Given the description of an element on the screen output the (x, y) to click on. 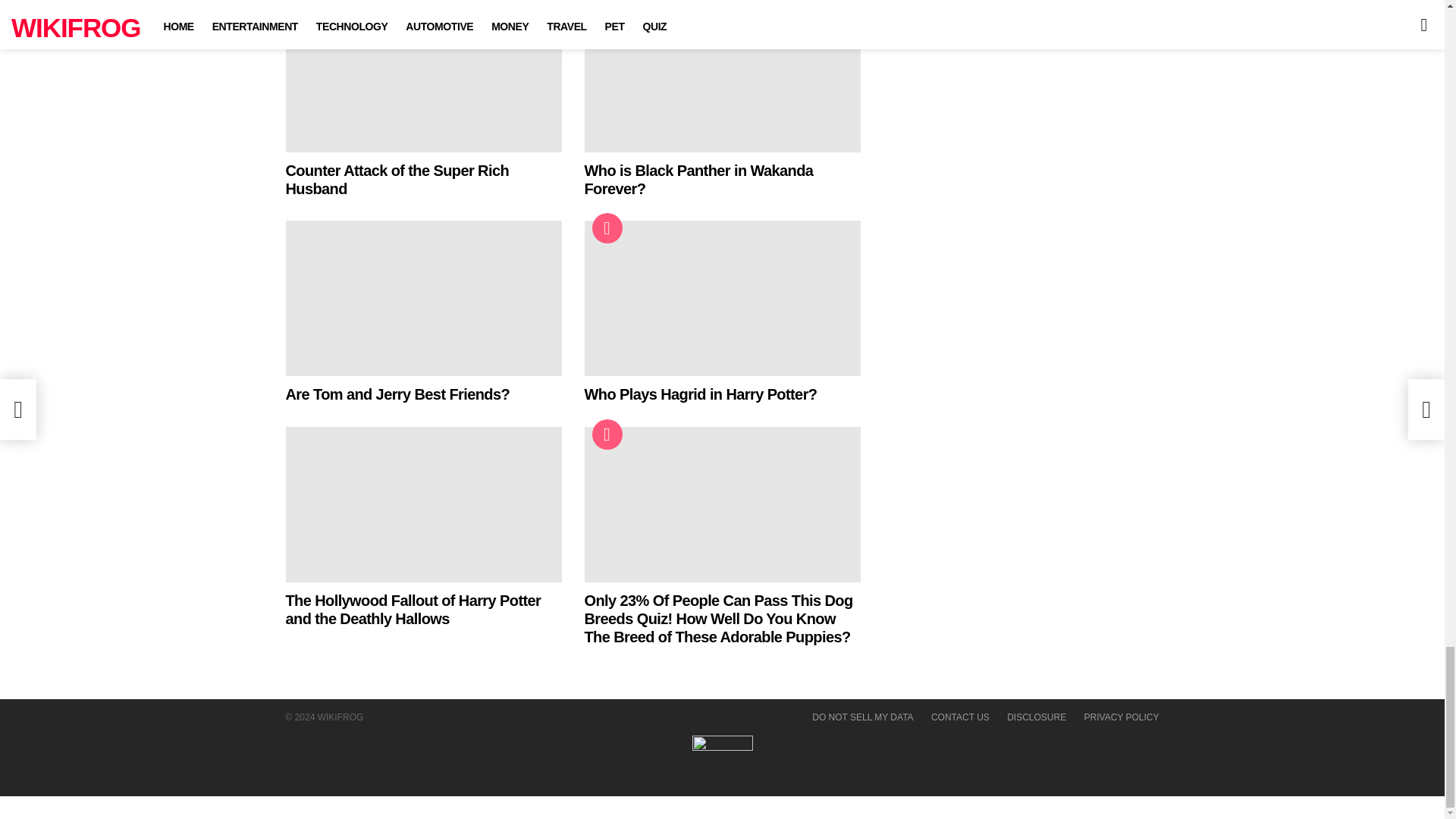
Are Tom and Jerry Best Friends? (422, 297)
Popular (307, 9)
Counter Attack of the Super Rich Husband (396, 179)
Counter Attack of the Super Rich Husband (422, 76)
Who is Black Panther in Wakanda Forever? (721, 76)
Who is Black Panther in Wakanda Forever? (697, 179)
